Given the description of an element on the screen output the (x, y) to click on. 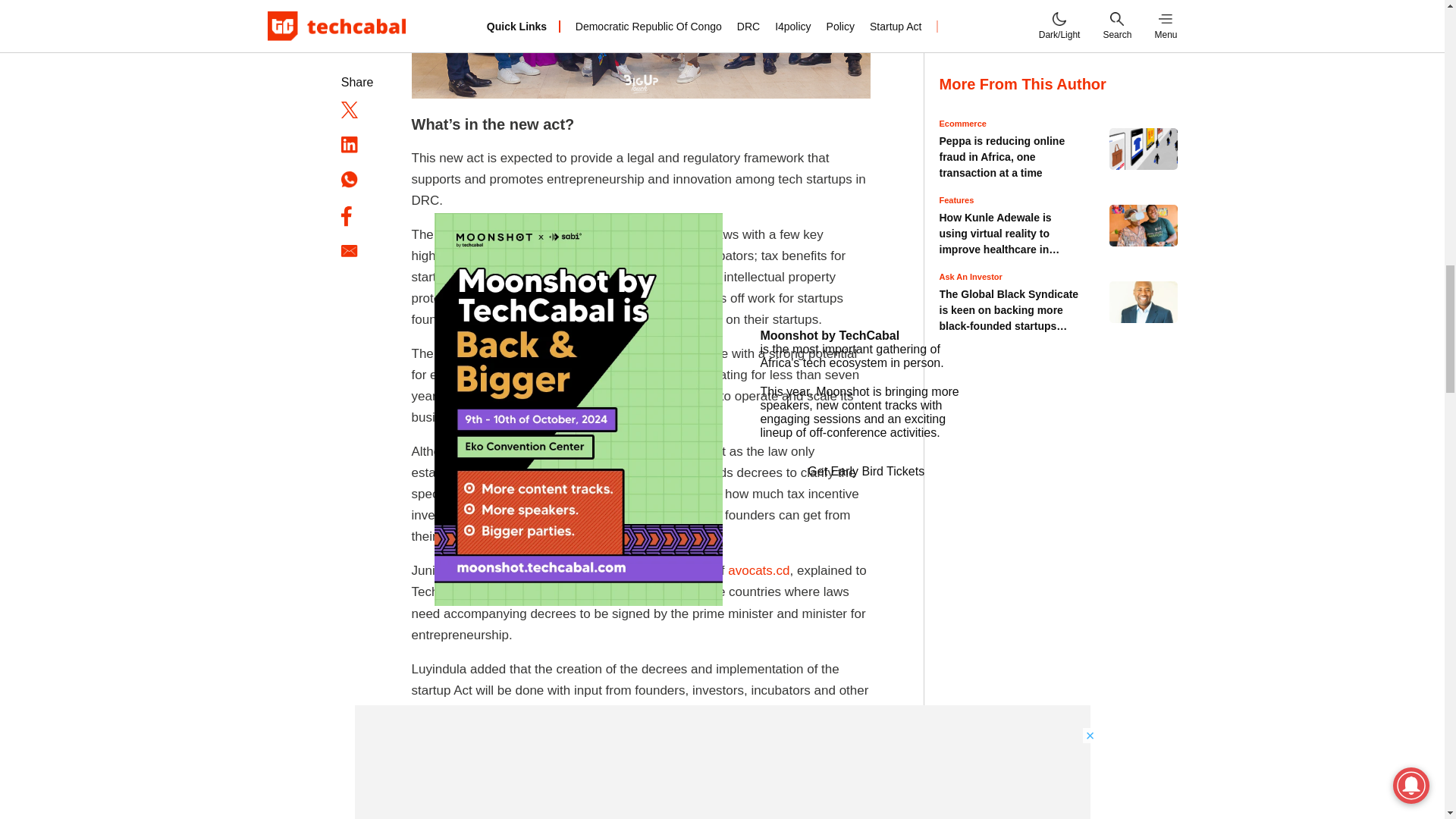
3rd party ad content (1058, 785)
